Given the description of an element on the screen output the (x, y) to click on. 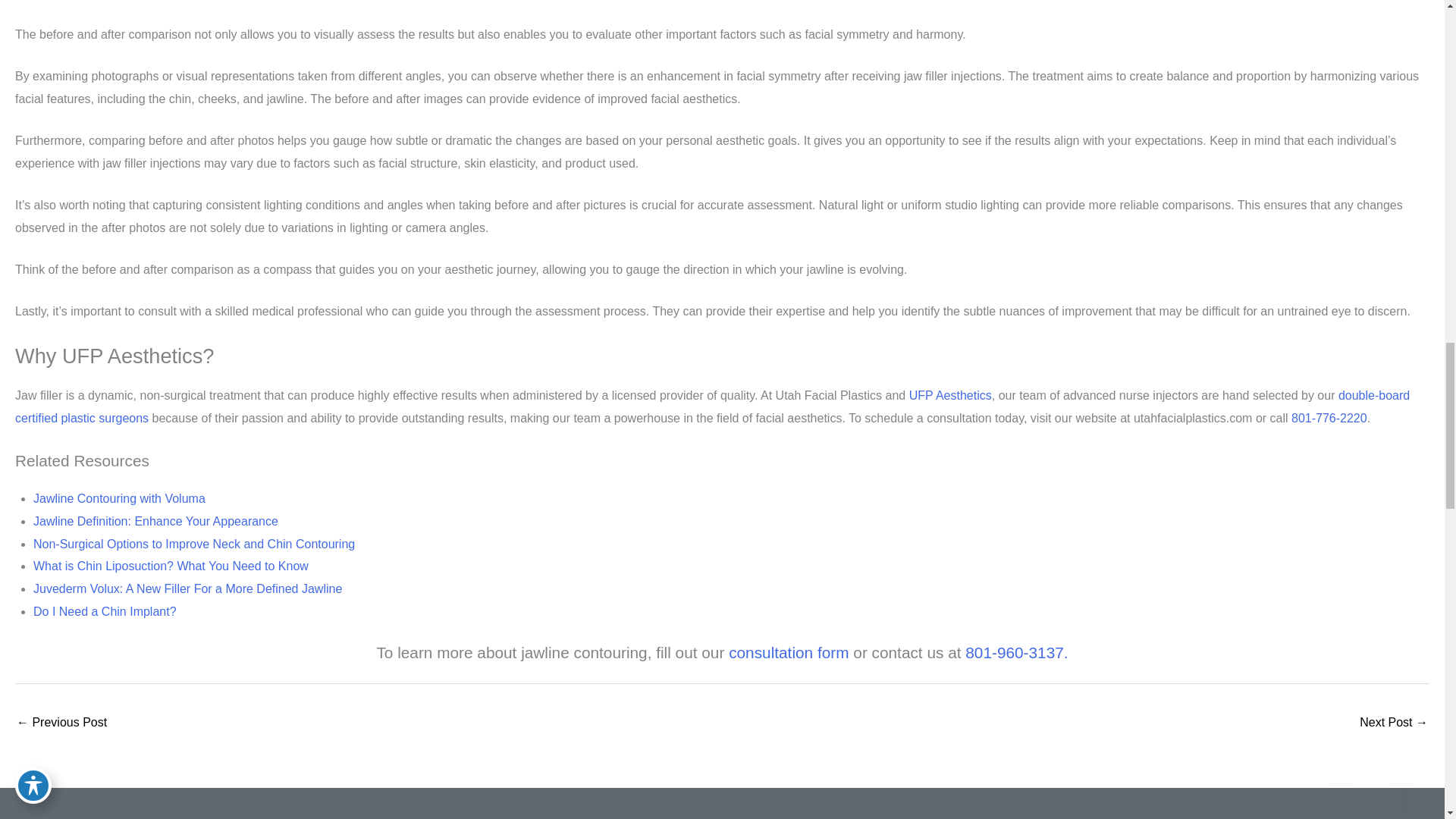
What Is Sculptra and How Does It Work? (1393, 723)
